Given the description of an element on the screen output the (x, y) to click on. 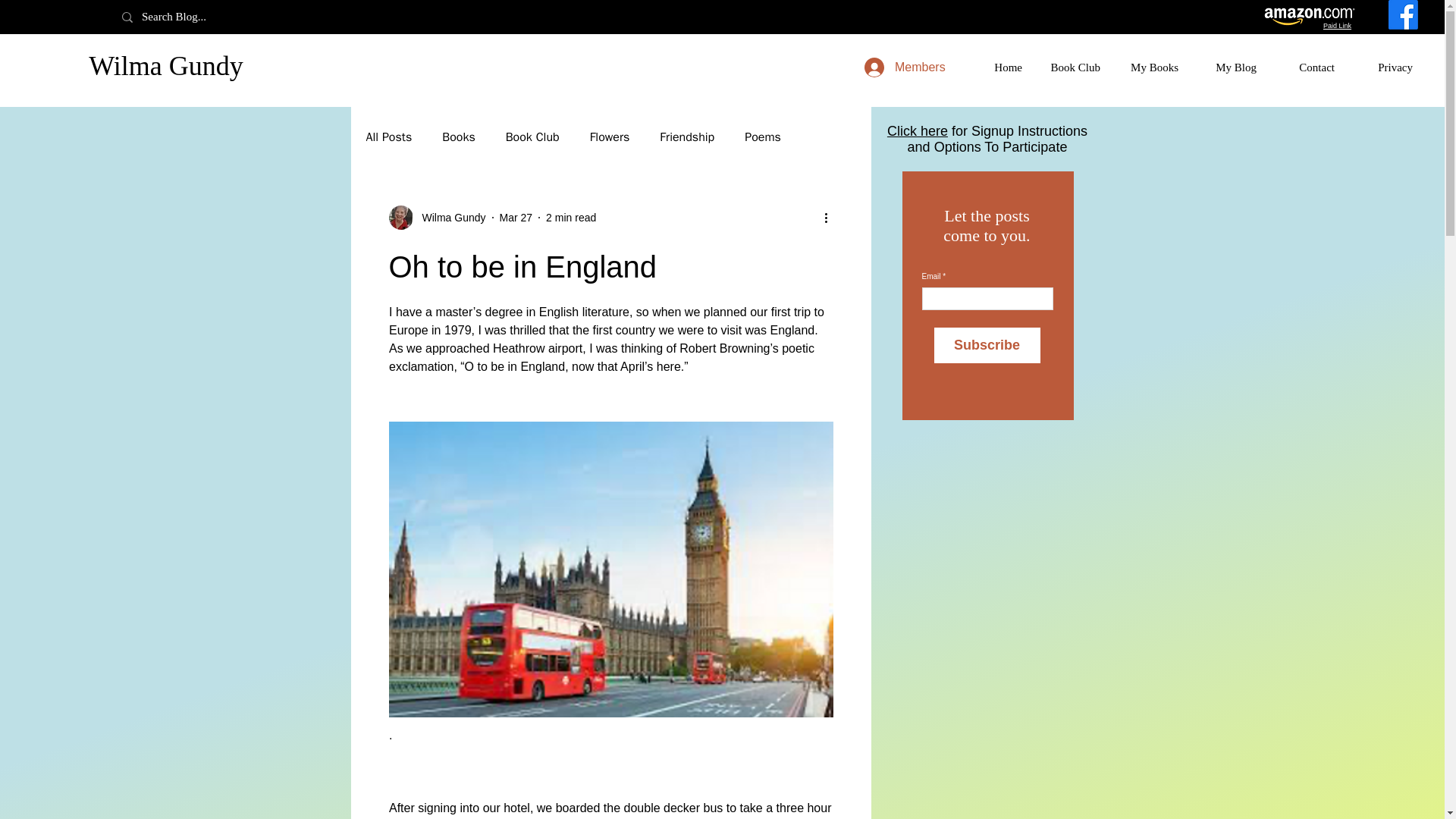
Wilma Gundy (448, 217)
Book Club (1072, 67)
Wilma Gundy (436, 217)
My Books (1150, 67)
2 min read (570, 216)
Privacy (1384, 67)
Contact (1306, 67)
Flowers (609, 136)
Book Club (532, 136)
Home (994, 67)
Members (898, 67)
Books (458, 136)
Mar 27 (515, 216)
All Posts (388, 136)
Friendship (686, 136)
